Given the description of an element on the screen output the (x, y) to click on. 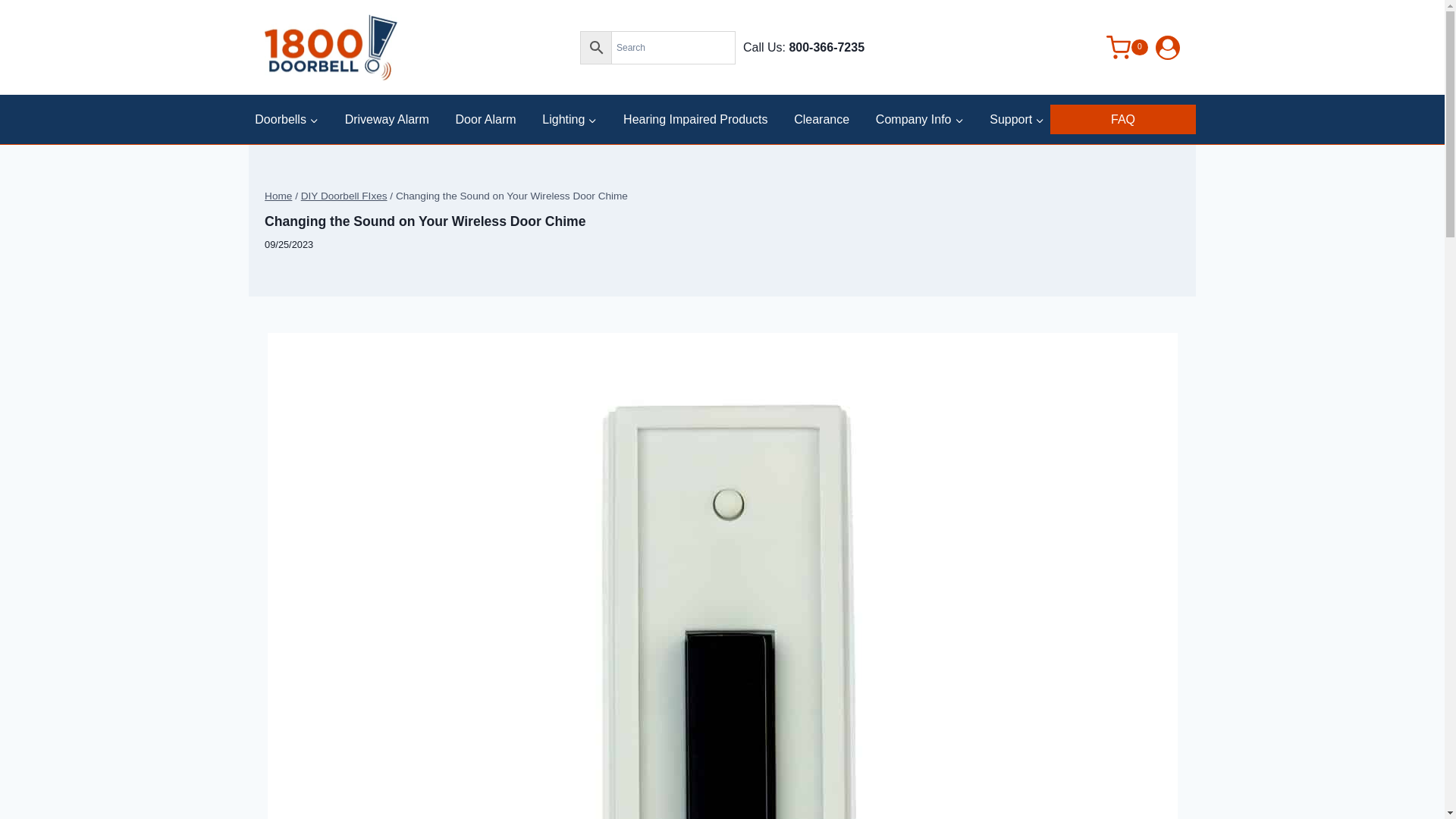
Doorbells Category Page (286, 118)
Door Alarm (485, 118)
0 (1114, 46)
Hearing Impaired Products (695, 118)
Company Information Links (919, 118)
Driveway Alarm (387, 118)
Doorbells (286, 118)
Company Info (919, 118)
Lighting Products Category Page (568, 118)
Link to Clearance Items (821, 118)
